Given the description of an element on the screen output the (x, y) to click on. 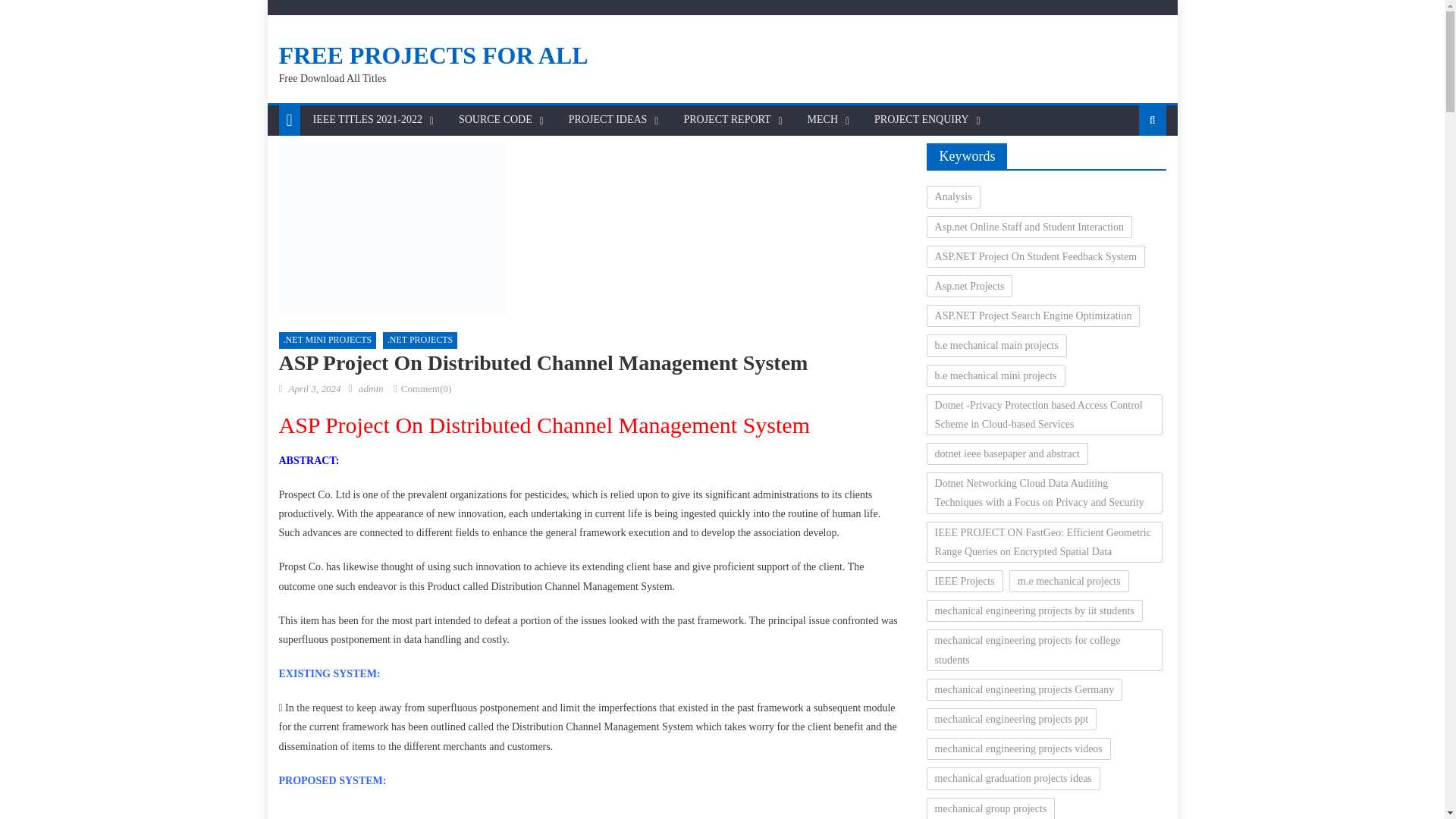
PROJECT IDEAS (608, 119)
PROJECT REPORT (726, 119)
FREE PROJECTS FOR ALL (433, 54)
SOURCE CODE (494, 119)
IEEE TITLES 2021-2022 (367, 119)
